Given the description of an element on the screen output the (x, y) to click on. 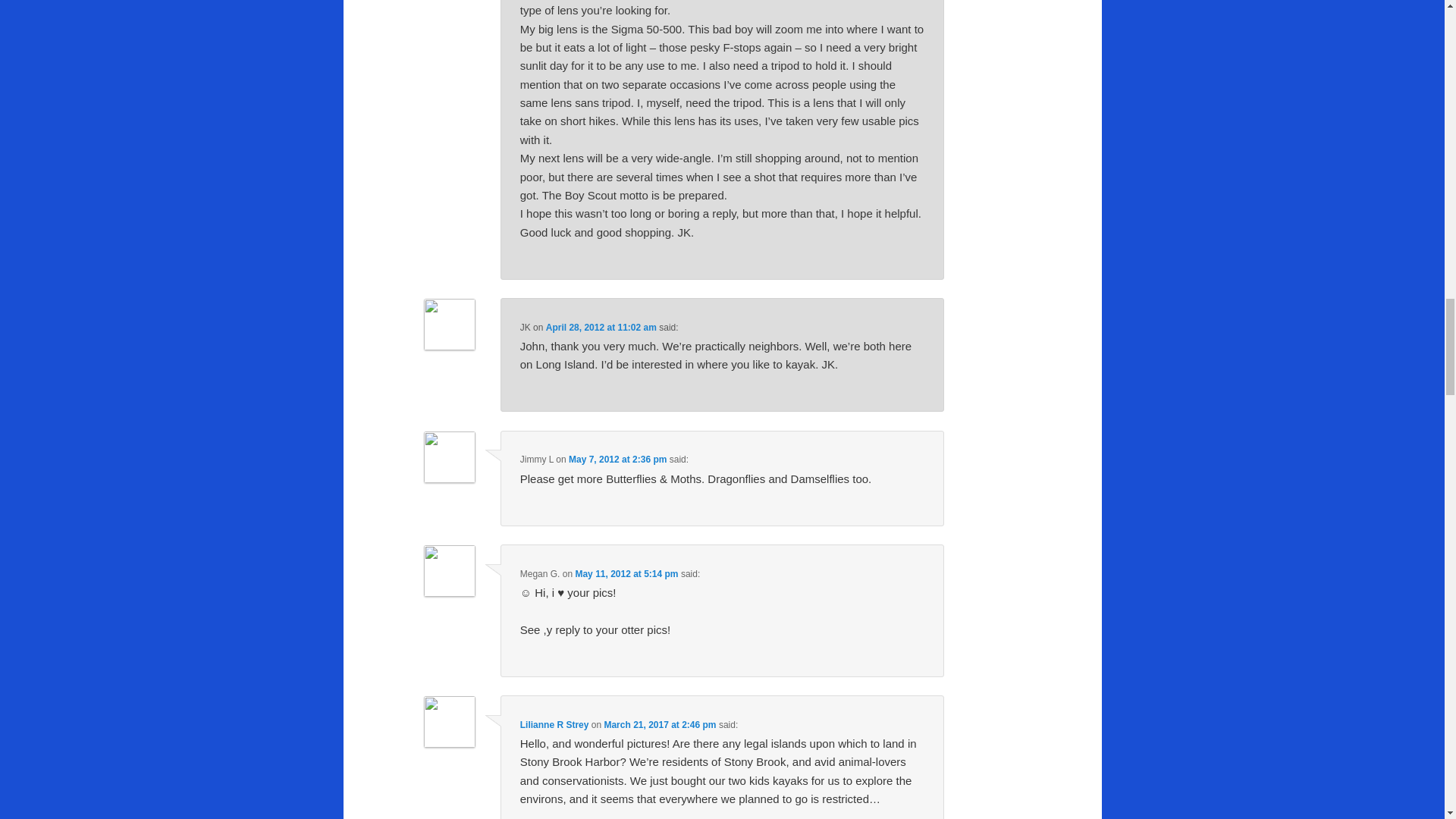
May 7, 2012 at 2:36 pm (617, 459)
Lilianne R Strey (554, 724)
April 28, 2012 at 11:02 am (601, 327)
May 11, 2012 at 5:14 pm (626, 573)
March 21, 2017 at 2:46 pm (660, 724)
